Given the description of an element on the screen output the (x, y) to click on. 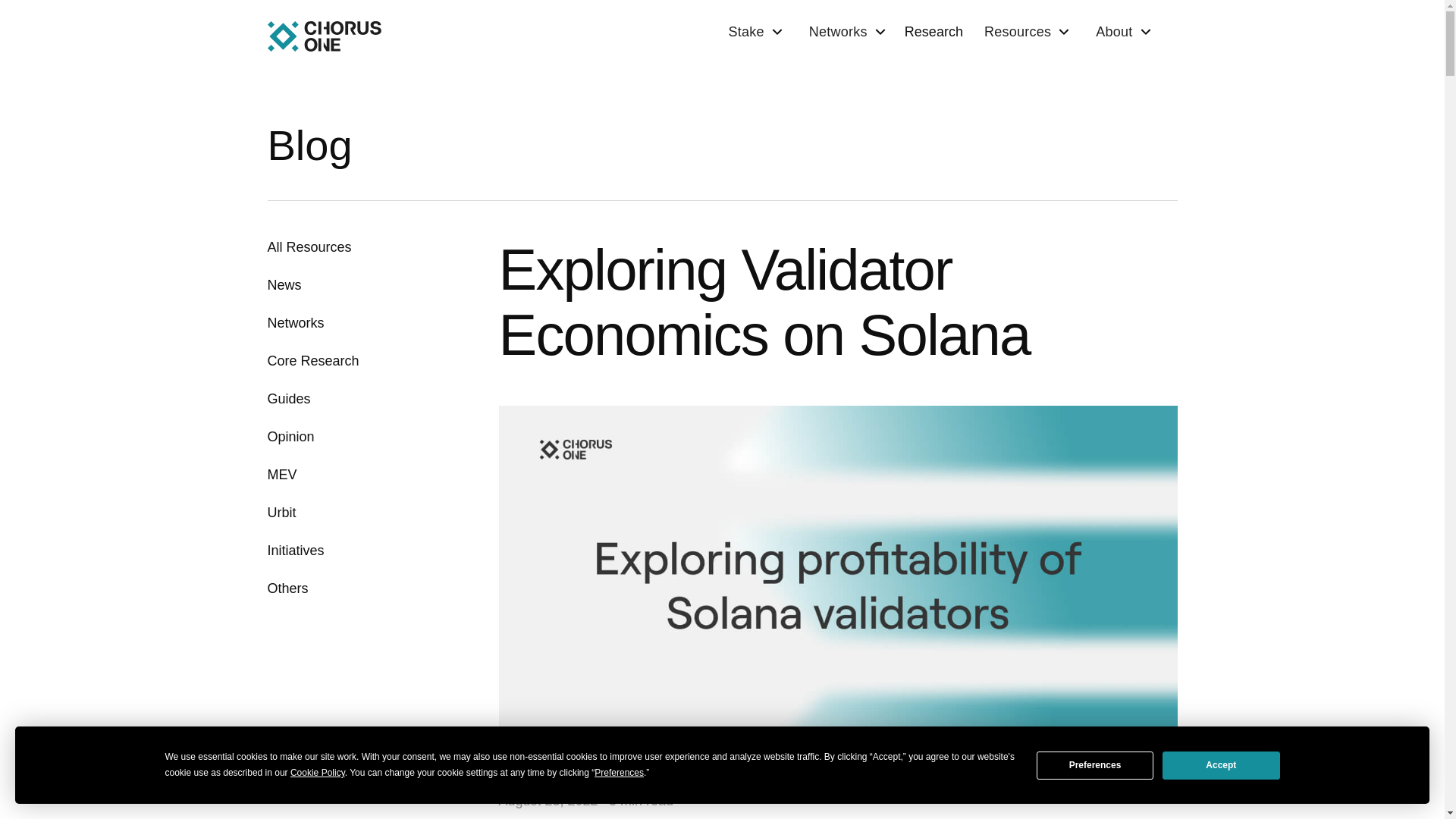
Networks (294, 322)
Accept (1220, 764)
Preferences (1094, 764)
News (283, 284)
All Resources (308, 247)
Research (936, 31)
